Given the description of an element on the screen output the (x, y) to click on. 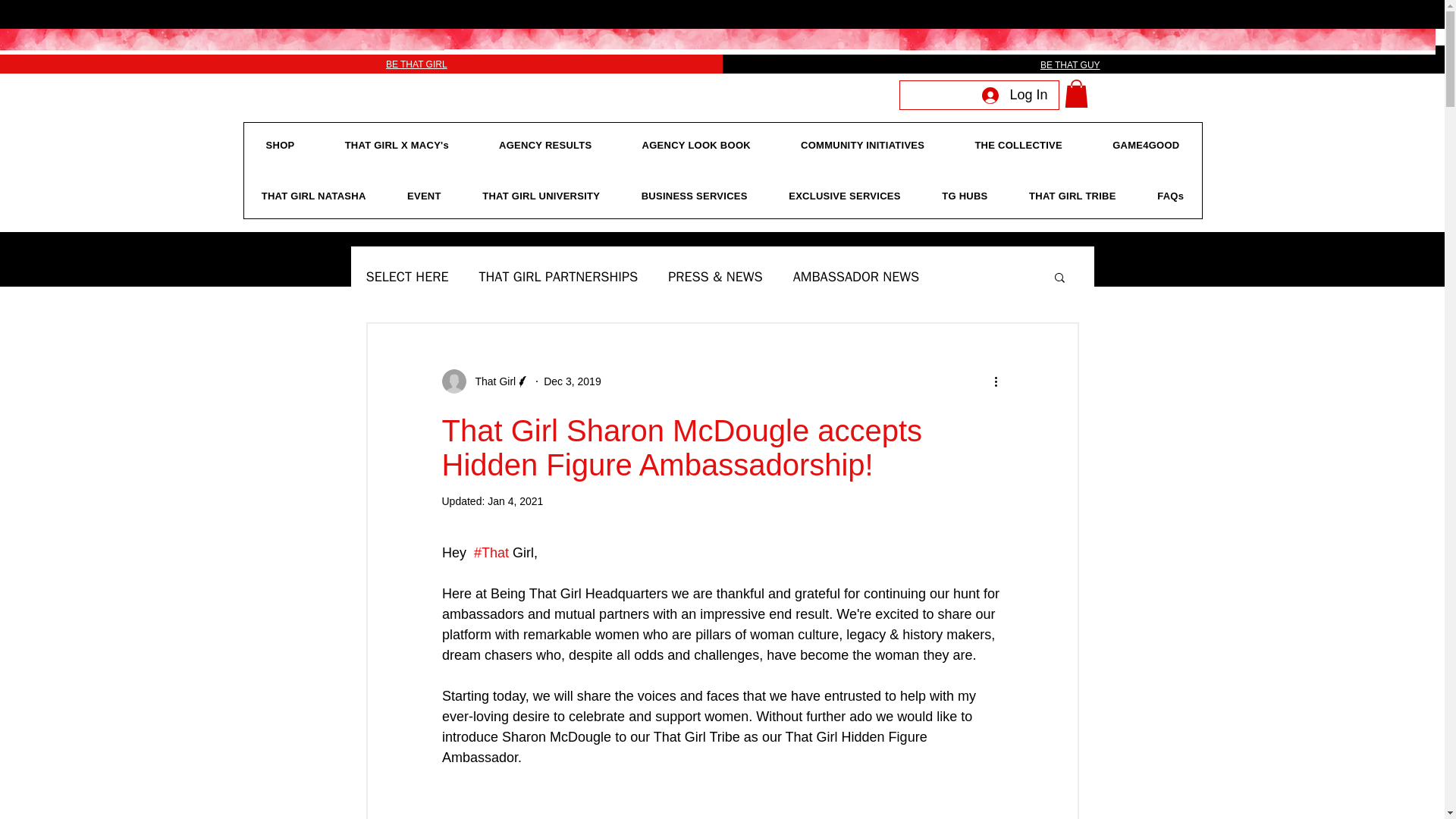
Dec 3, 2019 (572, 381)
THAT GIRL X MACY's (396, 144)
AMBASSADOR NEWS (856, 276)
Jan 4, 2021 (515, 500)
COMMUNITY INITIATIVES (862, 144)
EXCLUSIVE SERVICES (844, 195)
FAQs (1171, 195)
BE THAT GUY (1070, 64)
AGENCY RESULTS (545, 144)
That Girl (490, 381)
THAT GIRL TRIBE (1072, 195)
AGENCY LOOK BOOK (696, 144)
BUSINESS SERVICES (694, 195)
Log In (1014, 94)
THAT GIRL PARTNERSHIPS (558, 276)
